Given the description of an element on the screen output the (x, y) to click on. 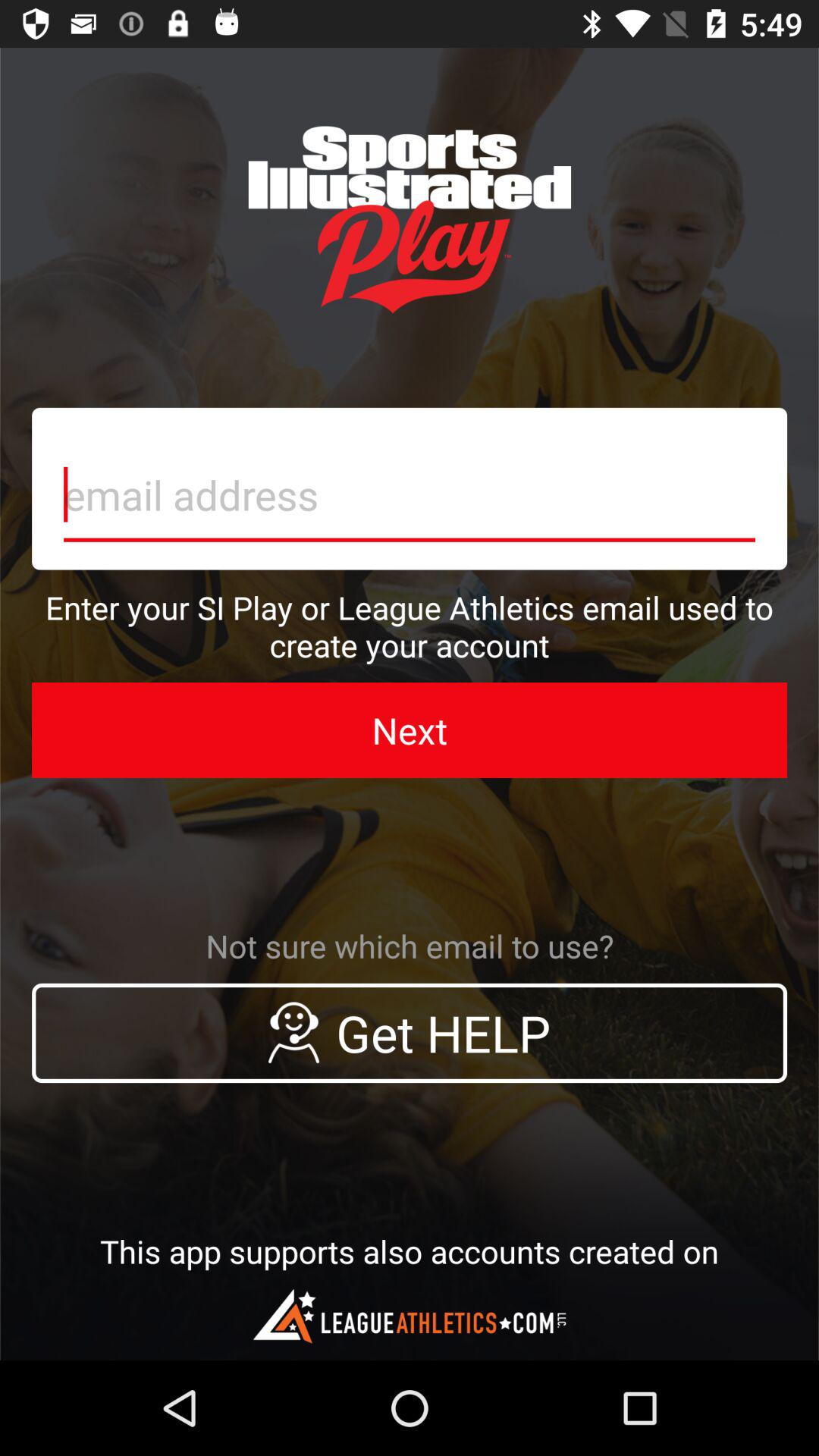
toggle email box (409, 488)
